Given the description of an element on the screen output the (x, y) to click on. 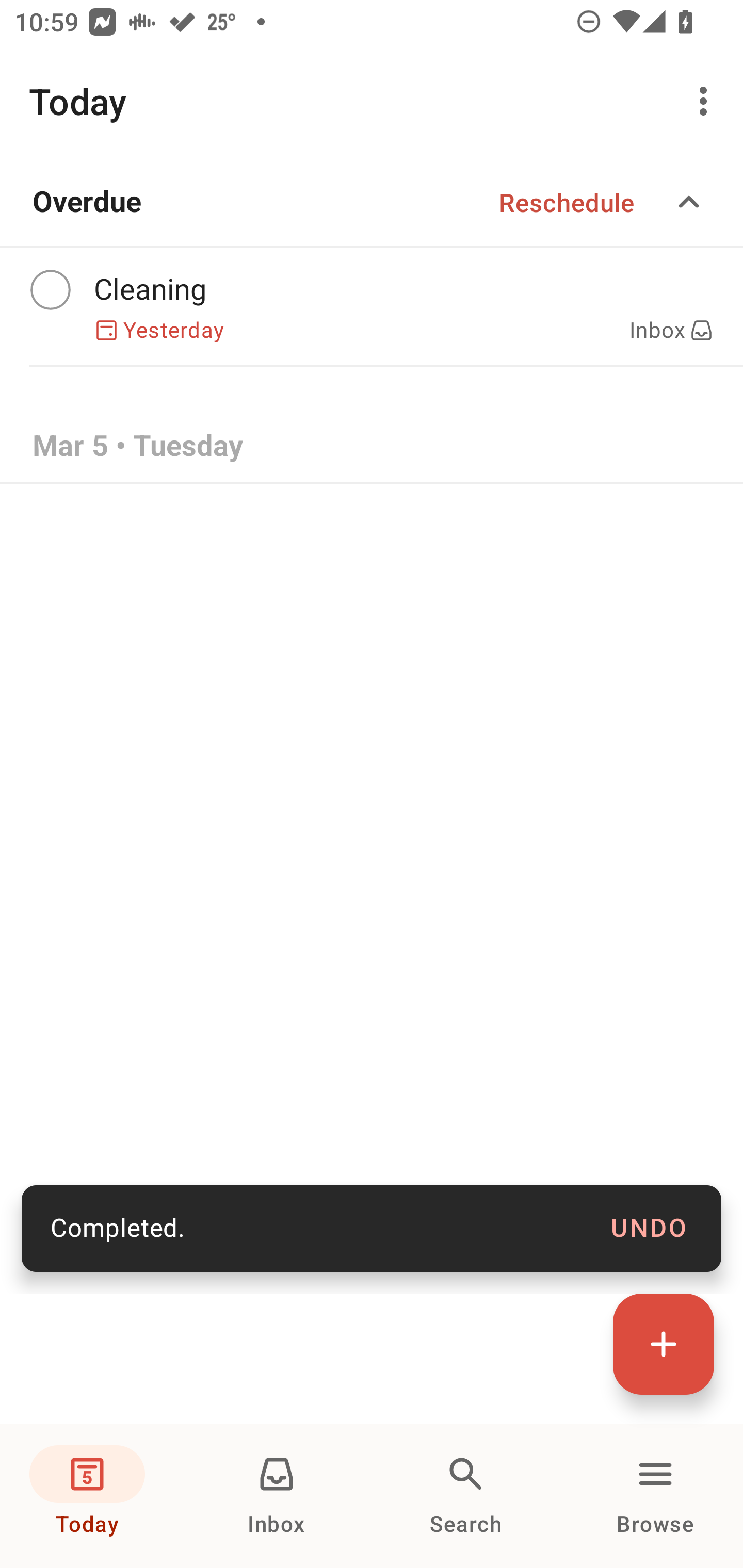
Today More options (371, 100)
More options (706, 101)
Overdue Reschedule Expand/collapse (371, 202)
Reschedule (566, 202)
Complete Cleaning Yesterday Inbox (371, 306)
Complete (50, 289)
Mar 5 • Tuesday (371, 446)
UNDO (648, 1228)
Quick add (663, 1343)
Inbox (276, 1495)
Search (465, 1495)
Browse (655, 1495)
